Given the description of an element on the screen output the (x, y) to click on. 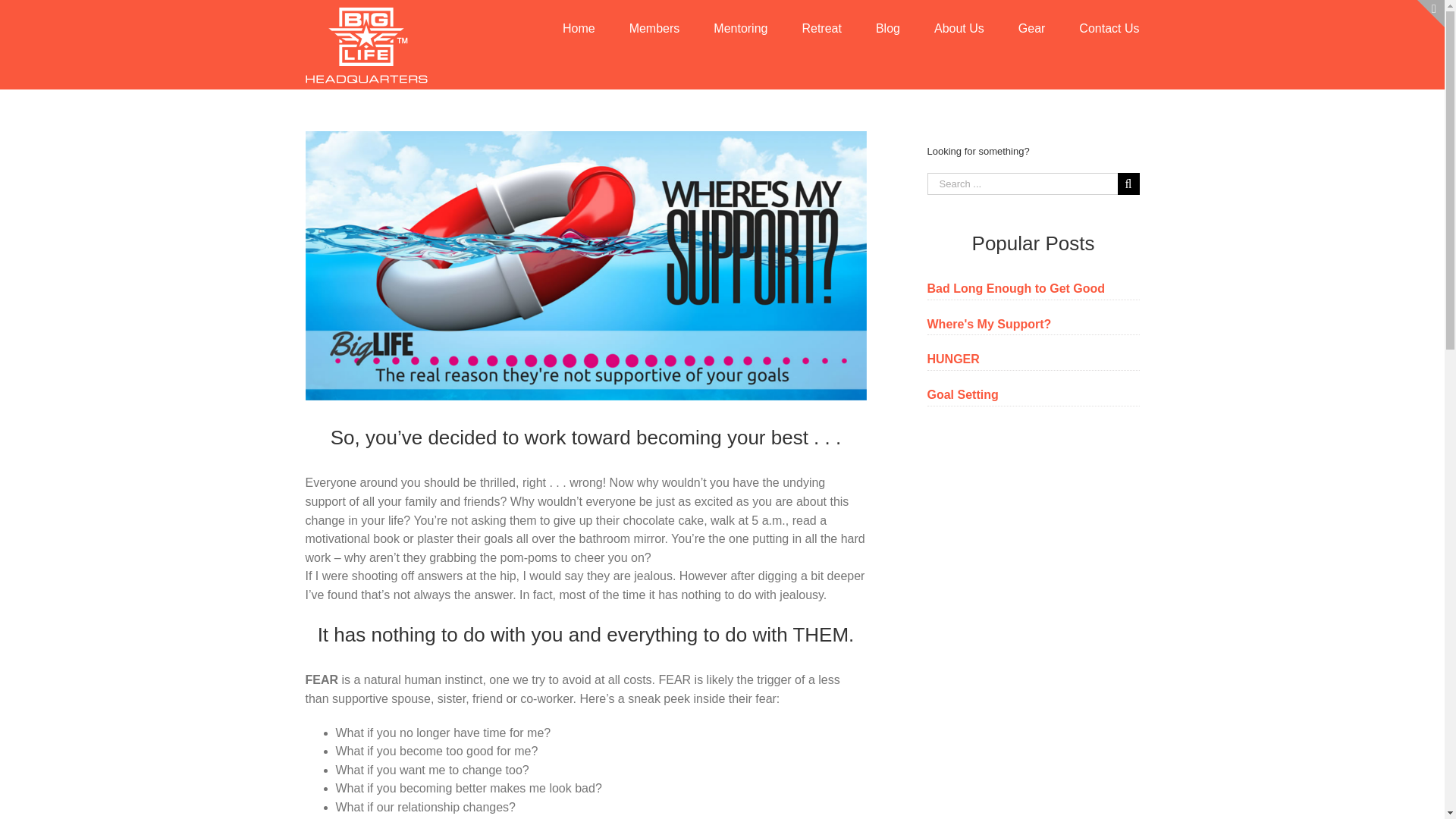
Goal Setting (961, 394)
Contact Us (1108, 27)
HUNGER (952, 358)
Where's My Support? (988, 323)
About Us (959, 27)
Mentoring (740, 27)
Bad Long Enough to Get Good (1015, 287)
Members (653, 27)
